Given the description of an element on the screen output the (x, y) to click on. 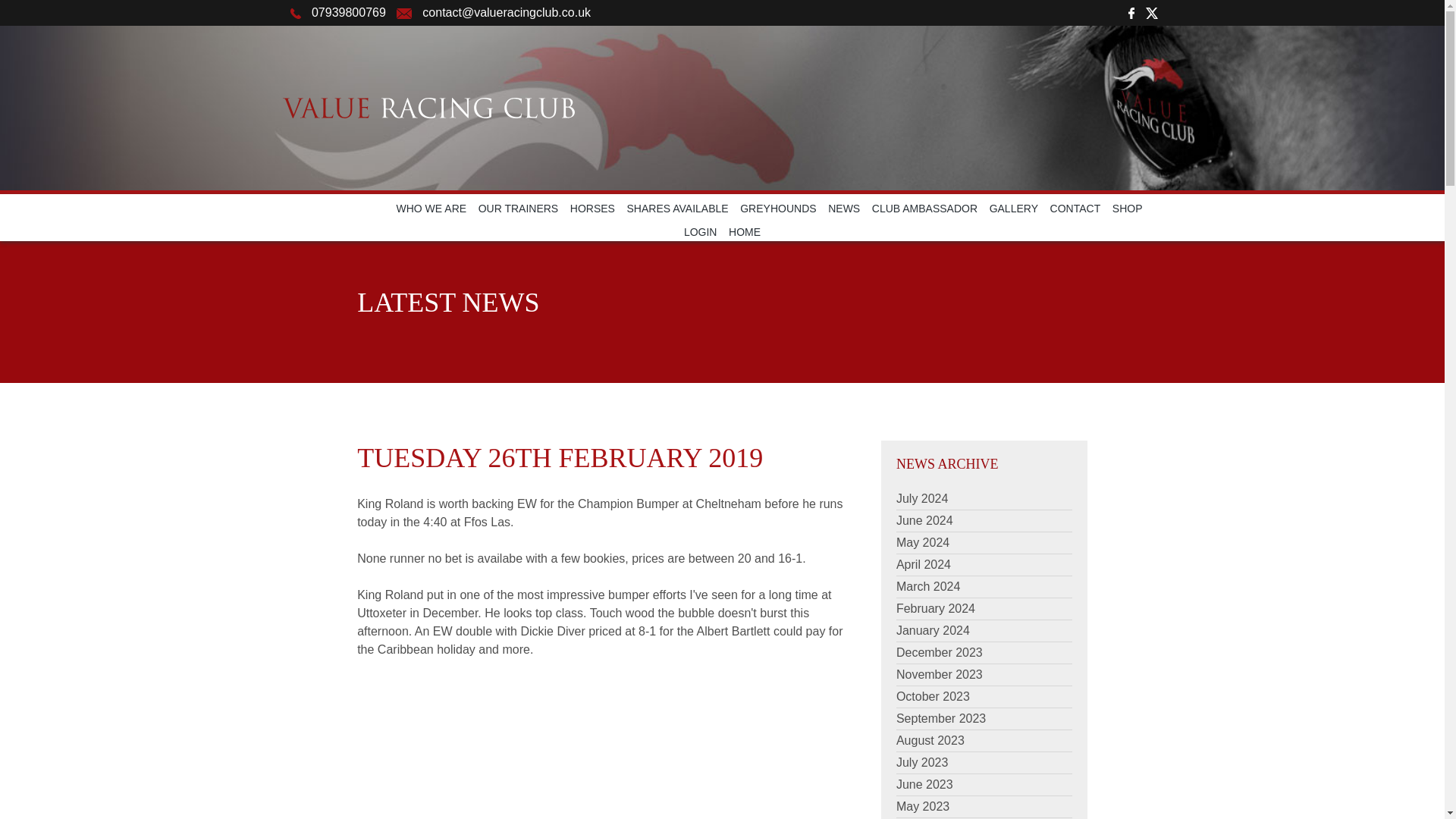
OUR TRAINERS (519, 208)
December 2023 (939, 652)
GREYHOUNDS (777, 208)
Gallery (1014, 208)
May 2024 (922, 542)
Greyhounds (777, 208)
April 2024 (923, 563)
July 2024 (922, 498)
June 2024 (924, 520)
News (844, 208)
Club ambassador (924, 208)
February 2024 (935, 608)
Who we are (431, 208)
WHO WE ARE (431, 208)
Our Trainers (519, 208)
